Given the description of an element on the screen output the (x, y) to click on. 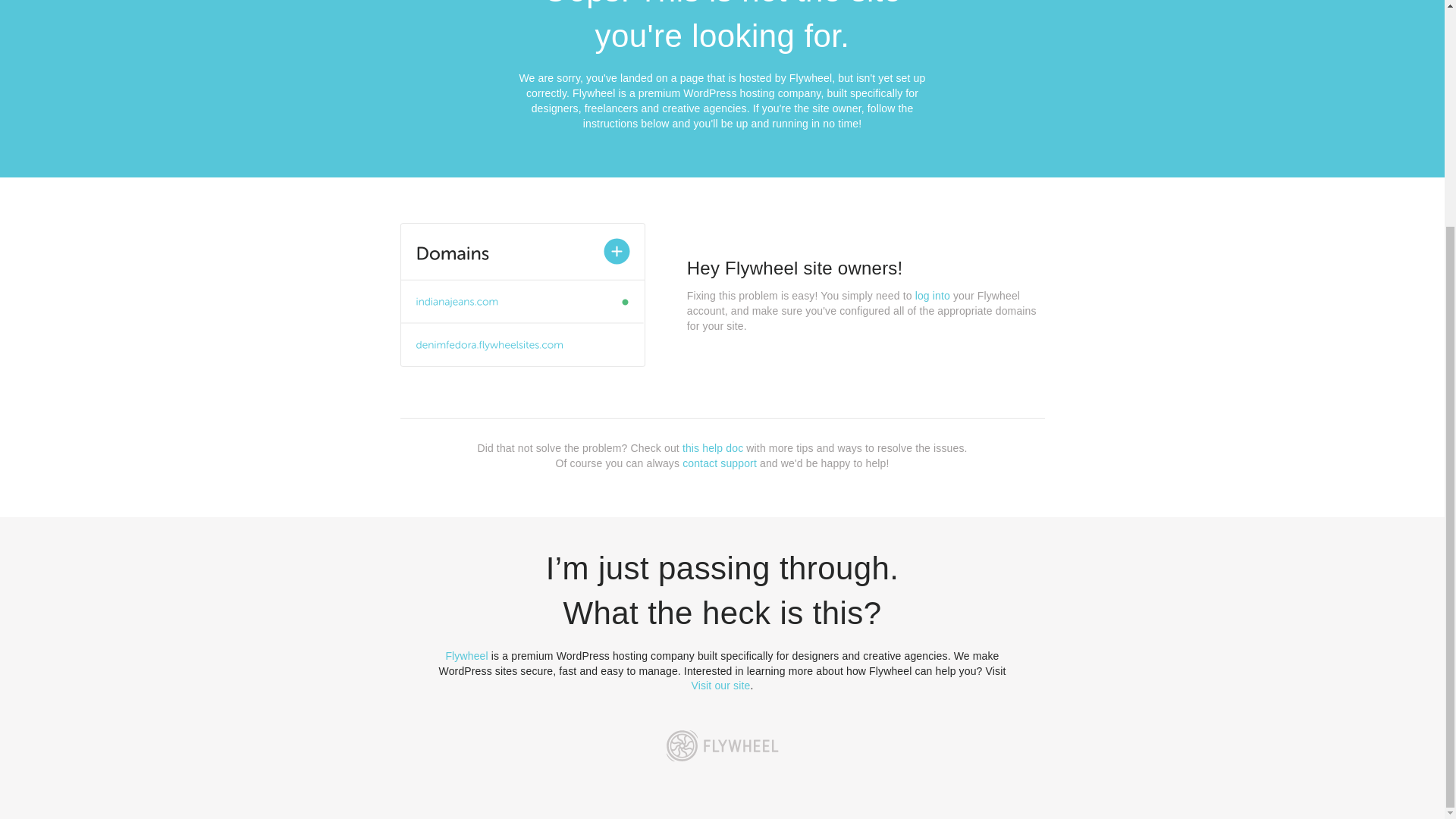
contact support (719, 463)
Visit our site (721, 685)
log into (932, 295)
this help doc (712, 448)
Flywheel (466, 655)
